Given the description of an element on the screen output the (x, y) to click on. 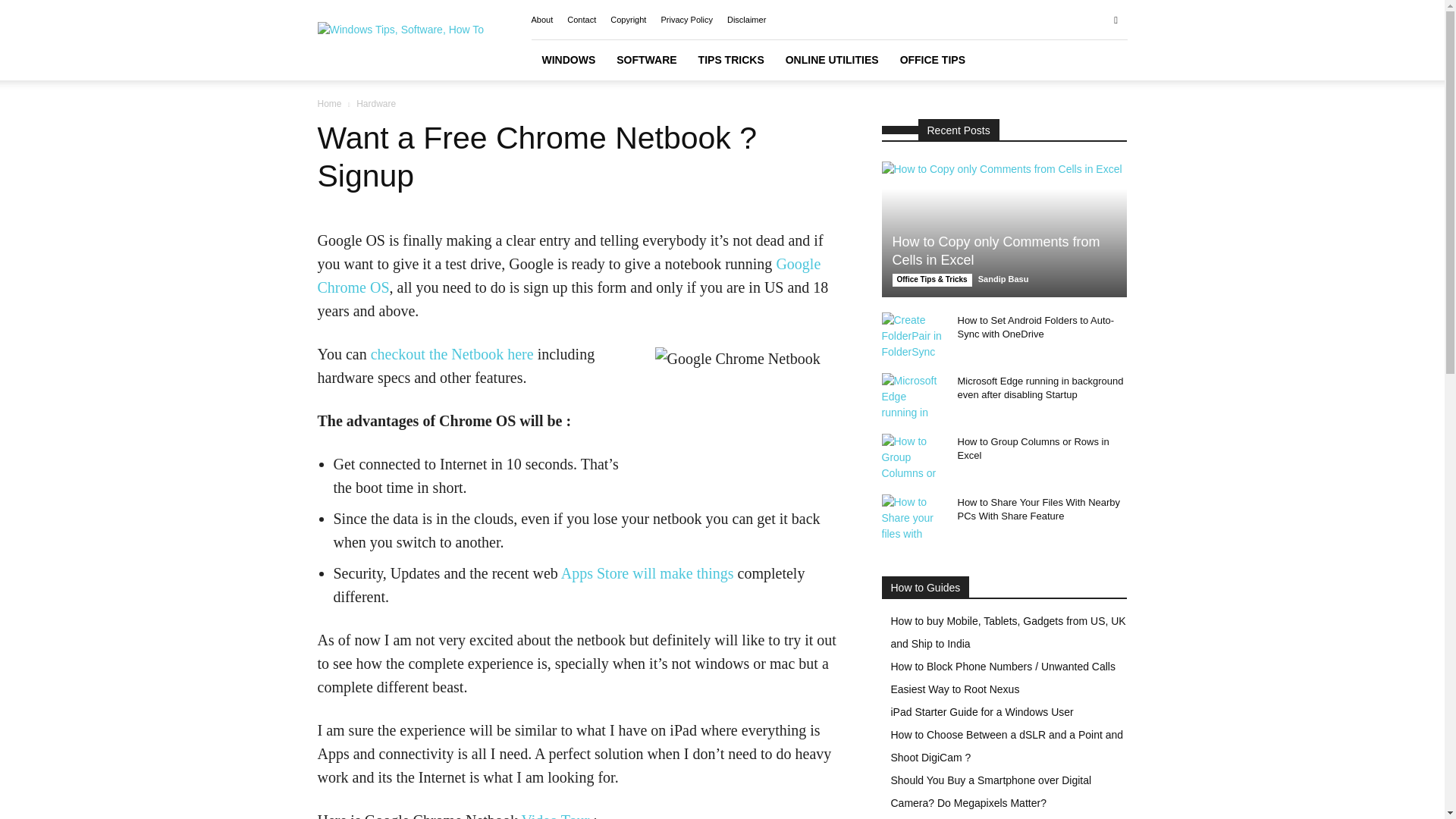
Disclaimer (745, 19)
OFFICE TIPS (932, 60)
TIPS TRICKS (730, 60)
Free Productive Software (646, 60)
Apps Store will make things (646, 573)
Home (328, 103)
Copyright (628, 19)
How to Copy only Comments from Cells in Excel (995, 250)
About (542, 19)
Video Tour (555, 815)
